Given the description of an element on the screen output the (x, y) to click on. 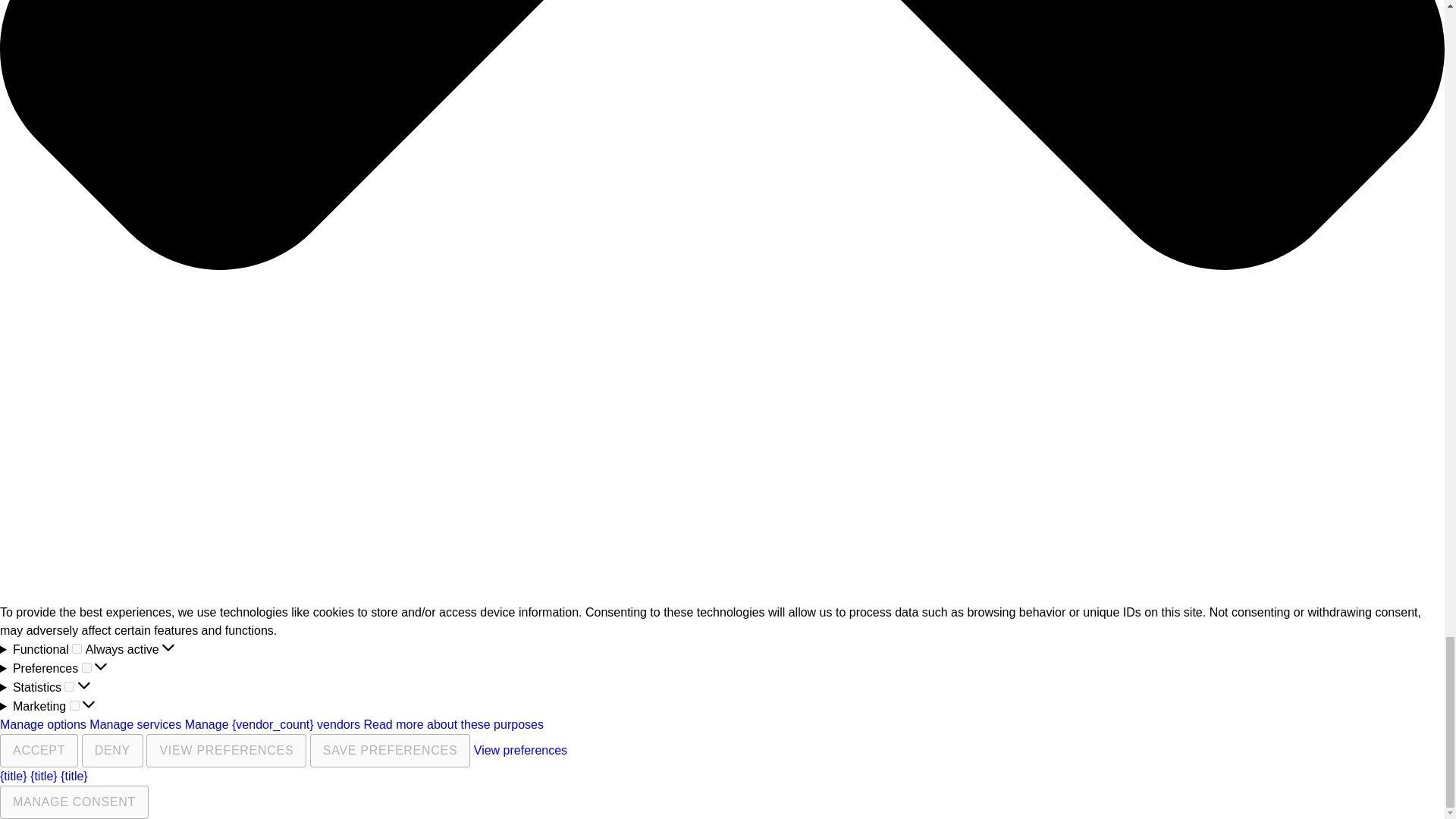
1 (69, 685)
1 (76, 647)
1 (74, 705)
1 (86, 667)
